Given the description of an element on the screen output the (x, y) to click on. 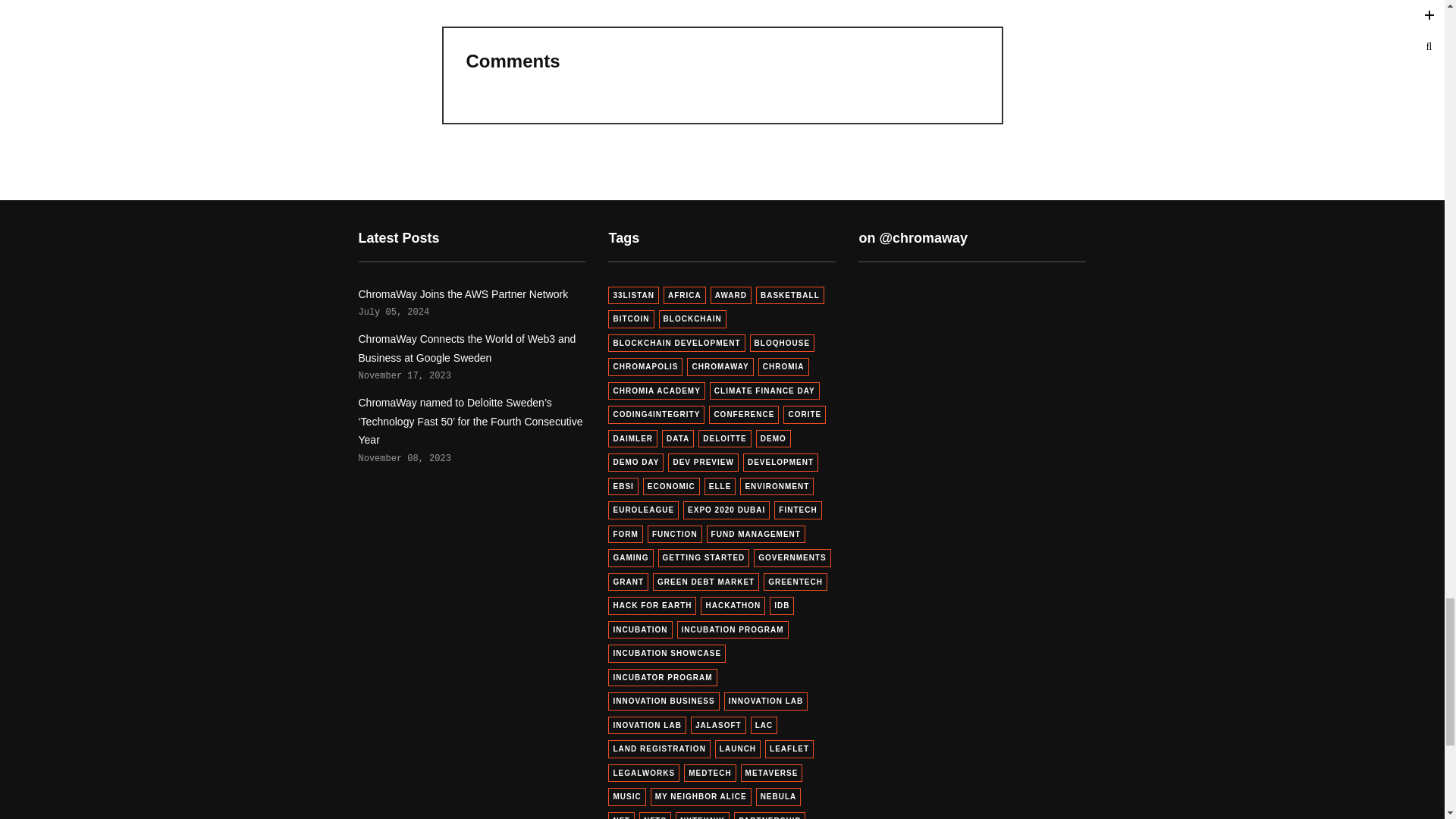
ChromaWay Joins the AWS Partner Network (462, 294)
CHROMAPOLIS (645, 366)
AWARD (730, 295)
CHROMIA (783, 366)
BLOCKCHAIN DEVELOPMENT (676, 343)
CHROMIA ACADEMY (656, 391)
33LISTAN (633, 295)
BLOQHOUSE (781, 343)
BLOCKCHAIN (692, 319)
